Given the description of an element on the screen output the (x, y) to click on. 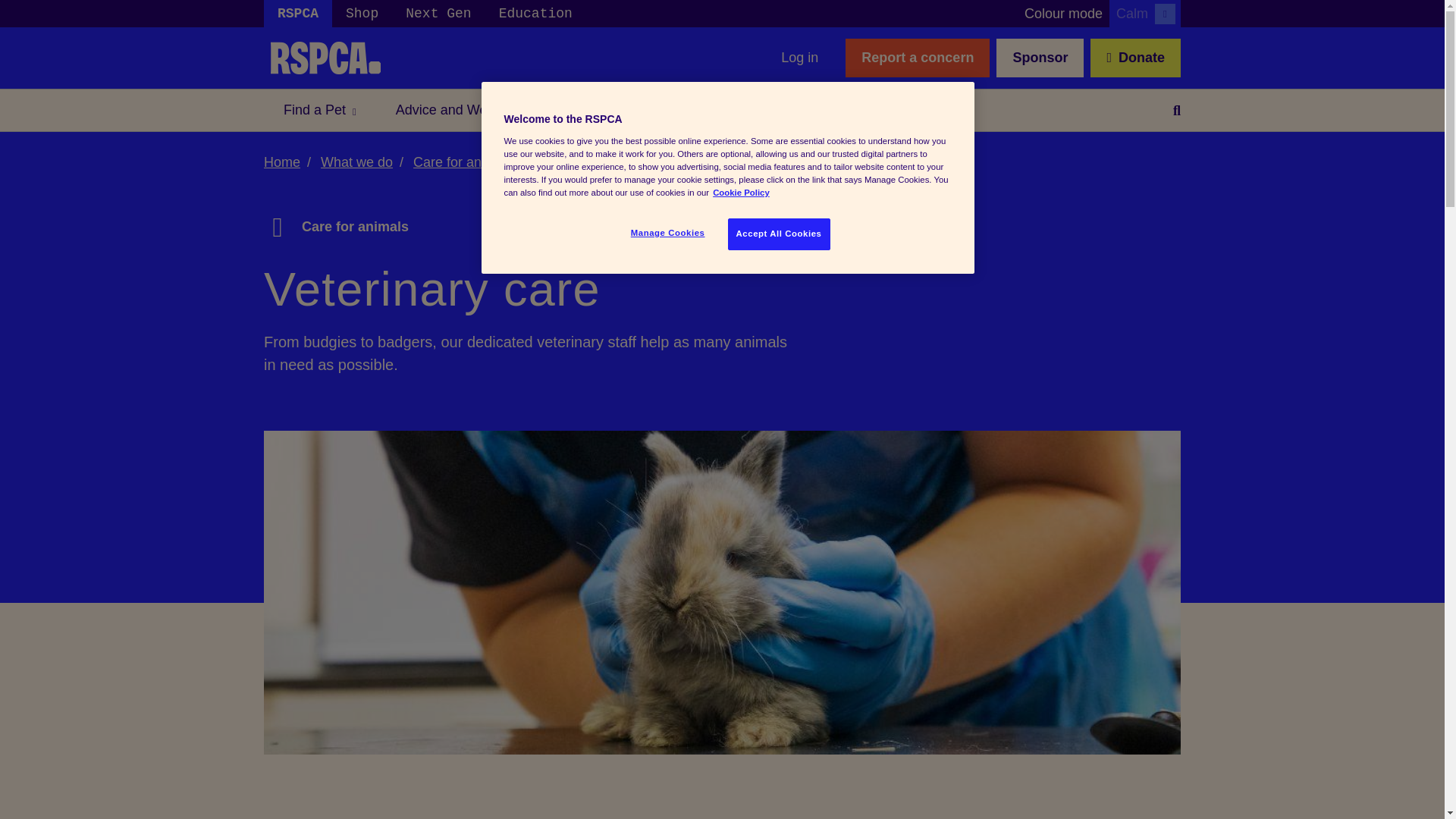
Next Gen (437, 13)
Find a Pet (319, 109)
Report a concern (917, 57)
Login (799, 57)
RSPCA (297, 13)
Advice and Welfare (459, 109)
Donate (1135, 57)
Education (535, 13)
Skip to Main Content (6, 6)
Shop (361, 13)
Log in (799, 57)
Sponsor (1039, 57)
